Given the description of an element on the screen output the (x, y) to click on. 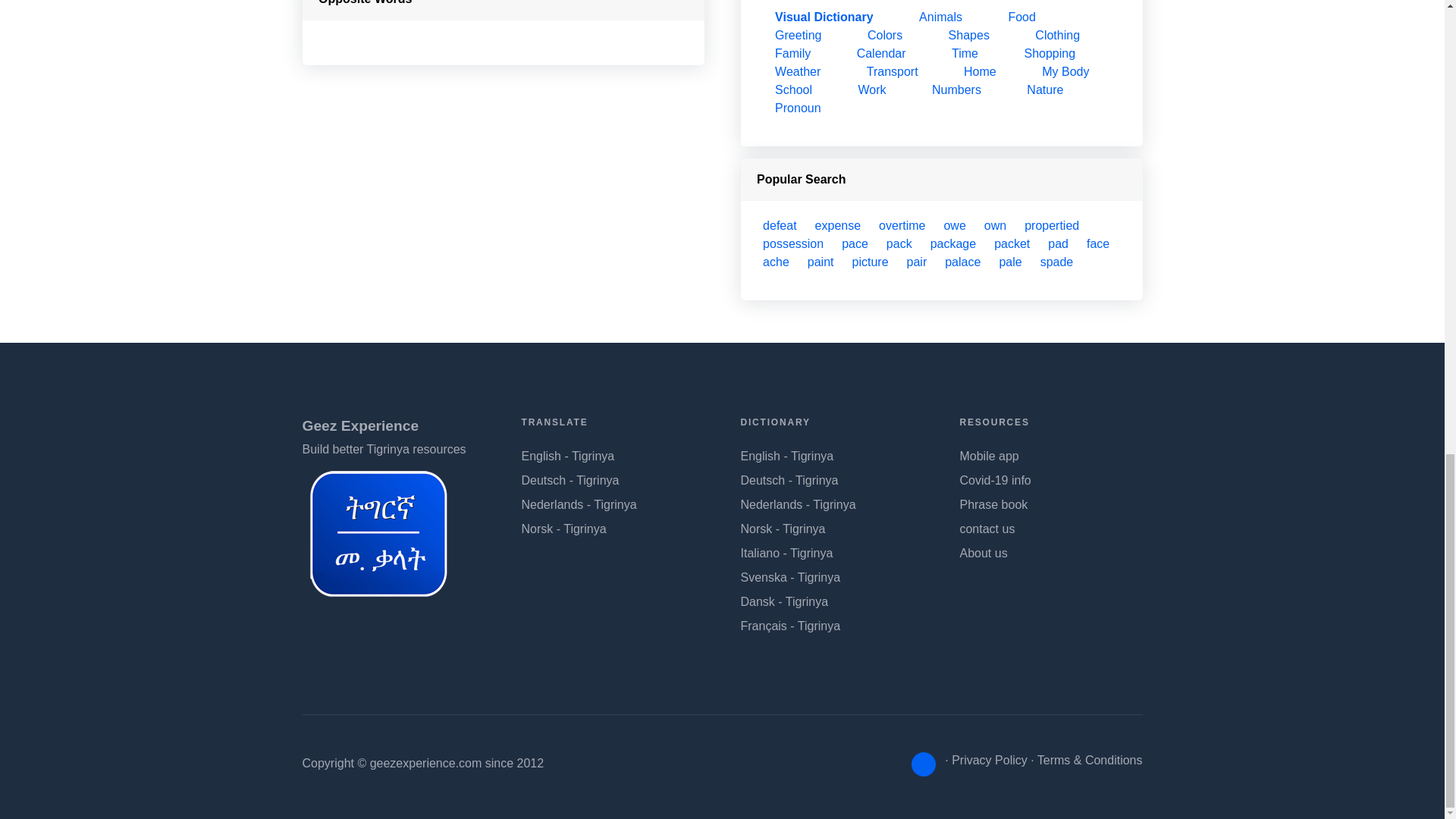
Greeting (797, 34)
Visual Dictionary (823, 16)
Food (1021, 16)
Colors (884, 34)
Shapes (969, 34)
Animals (940, 16)
Clothing (1057, 34)
